Given the description of an element on the screen output the (x, y) to click on. 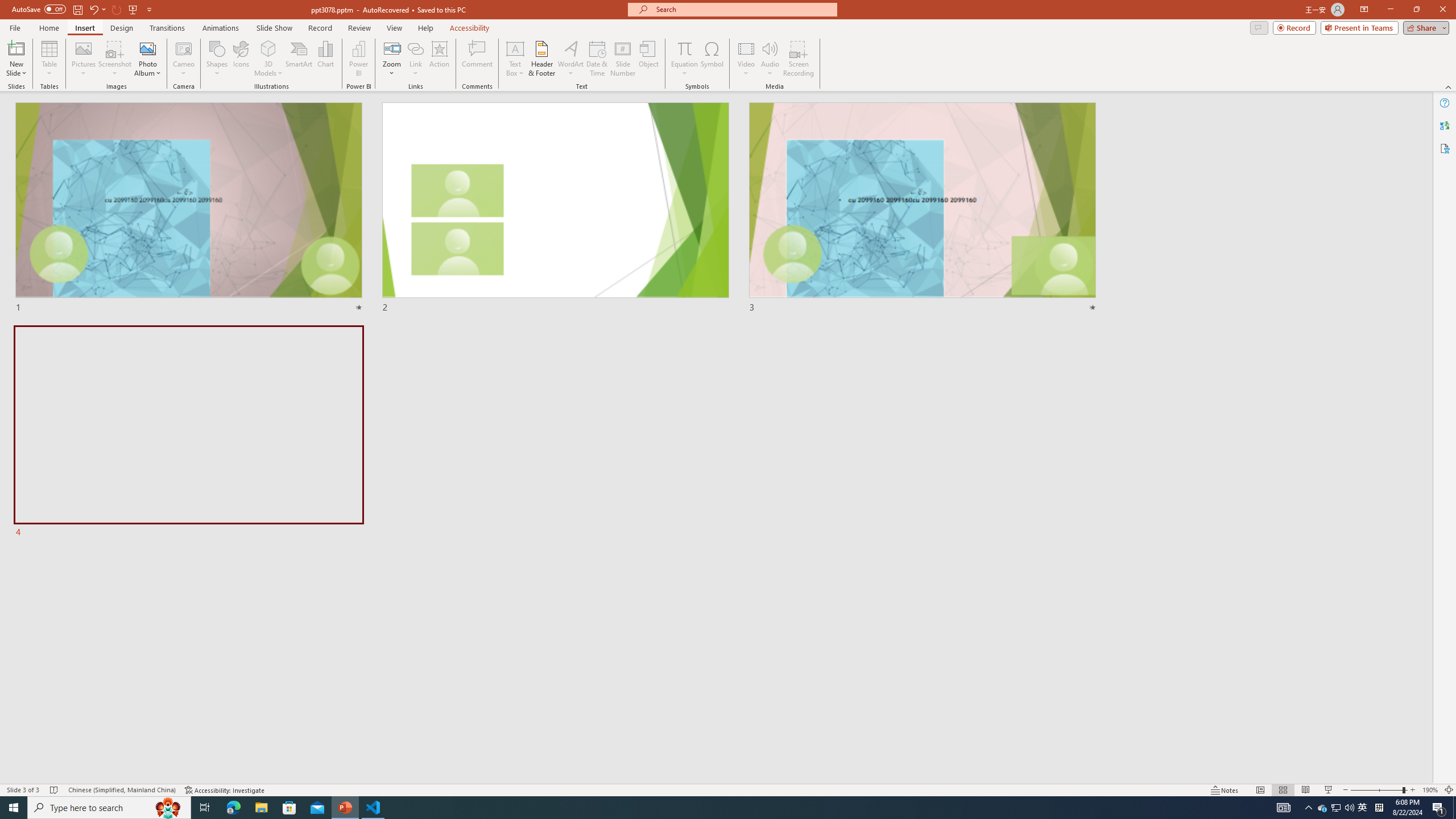
Slide (189, 431)
New Slide (16, 48)
Cameo (183, 48)
Link (415, 58)
3D Models (268, 58)
File Tab (15, 27)
Transitions (167, 28)
Normal (1260, 790)
New Slide (16, 58)
Action (439, 58)
Header & Footer... (541, 58)
Collapse the Ribbon (1448, 86)
